Given the description of an element on the screen output the (x, y) to click on. 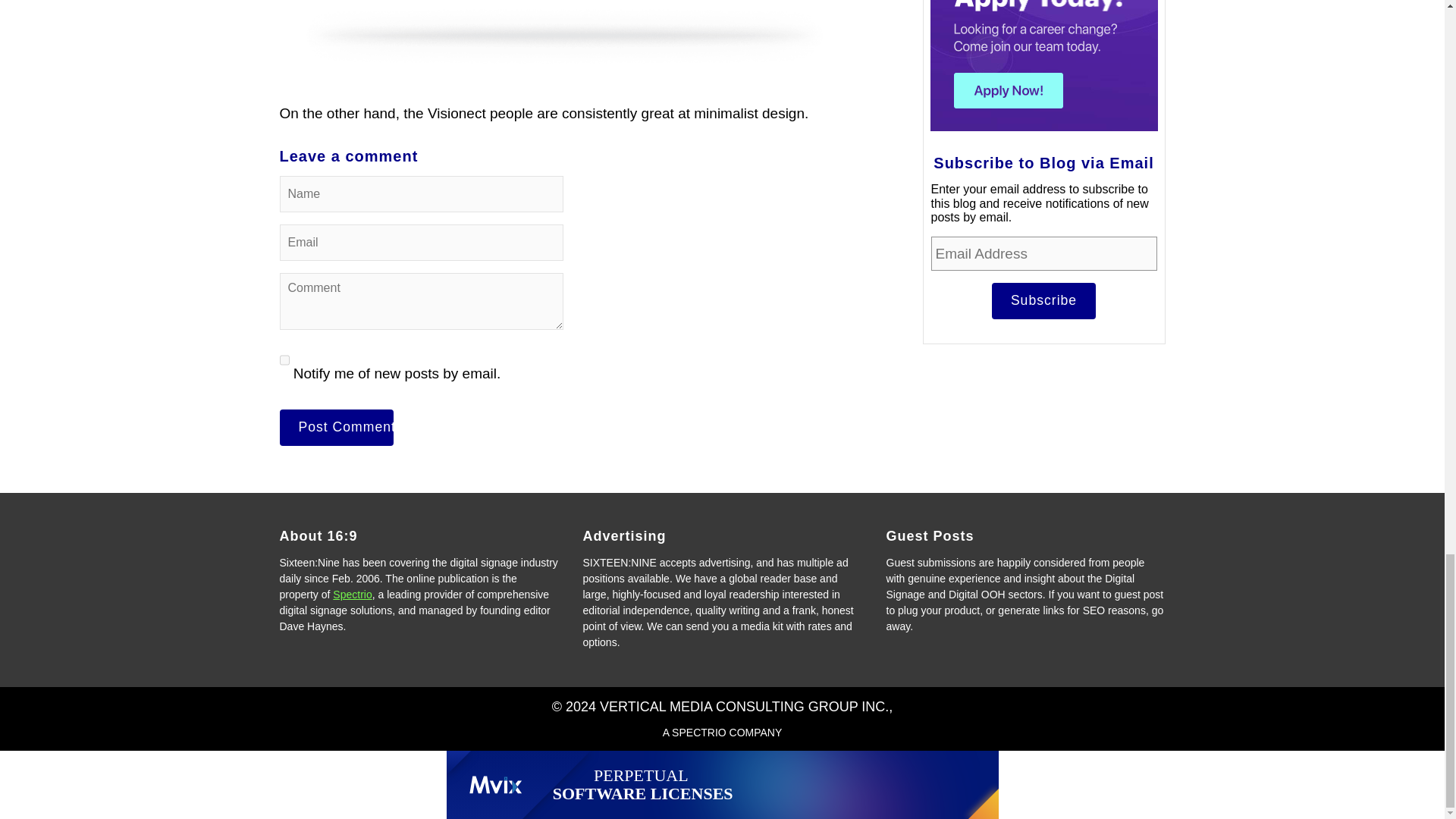
Spectrio (352, 594)
Subscribe (1043, 300)
A SPECTRIO COMPANY (721, 732)
Post Comment (336, 427)
Post Comment (336, 427)
